Given the description of an element on the screen output the (x, y) to click on. 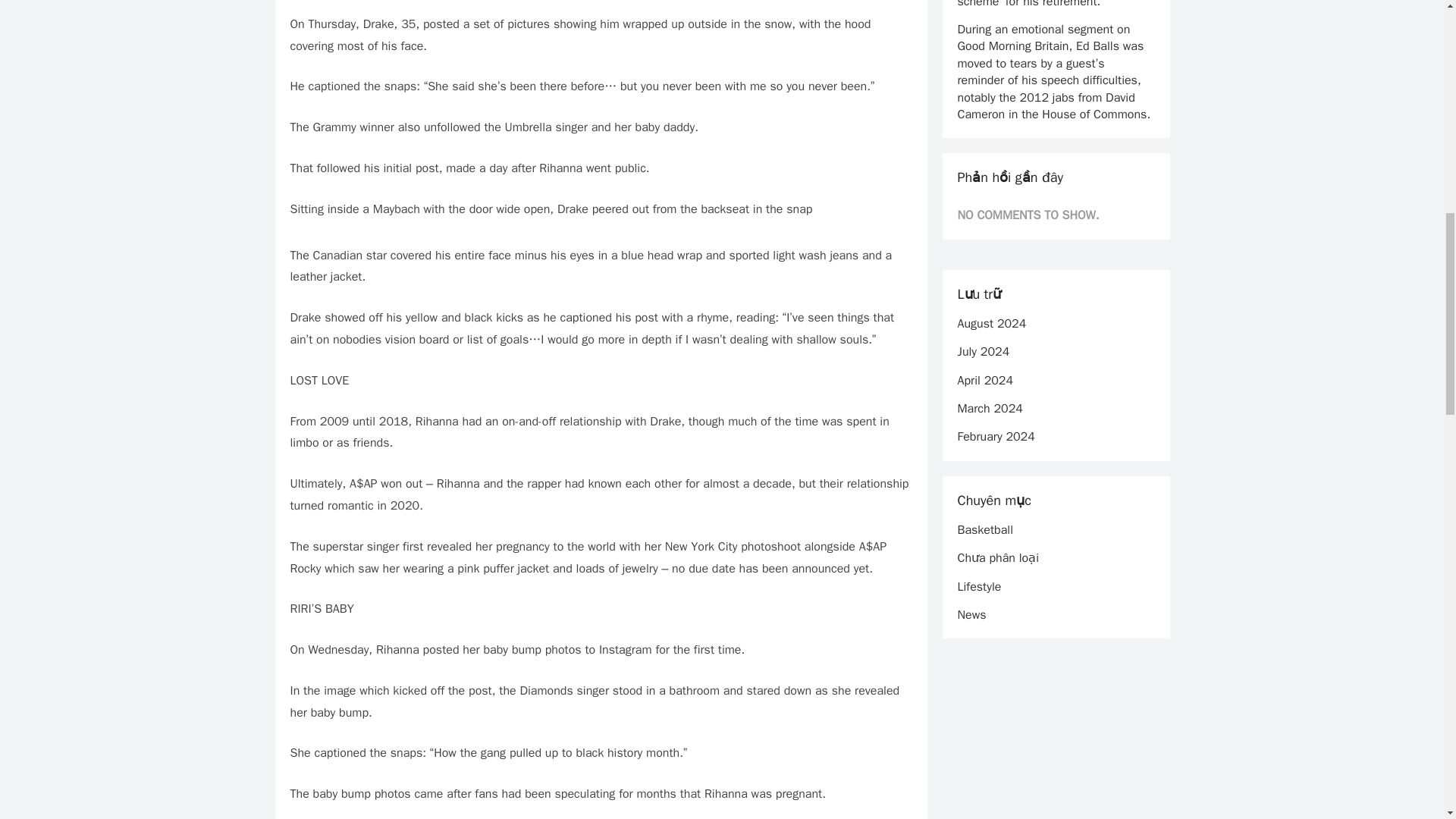
August 2024 (991, 323)
News (970, 614)
February 2024 (994, 436)
March 2024 (989, 408)
Lifestyle (978, 586)
April 2024 (984, 380)
Basketball (983, 529)
July 2024 (982, 351)
